Given the description of an element on the screen output the (x, y) to click on. 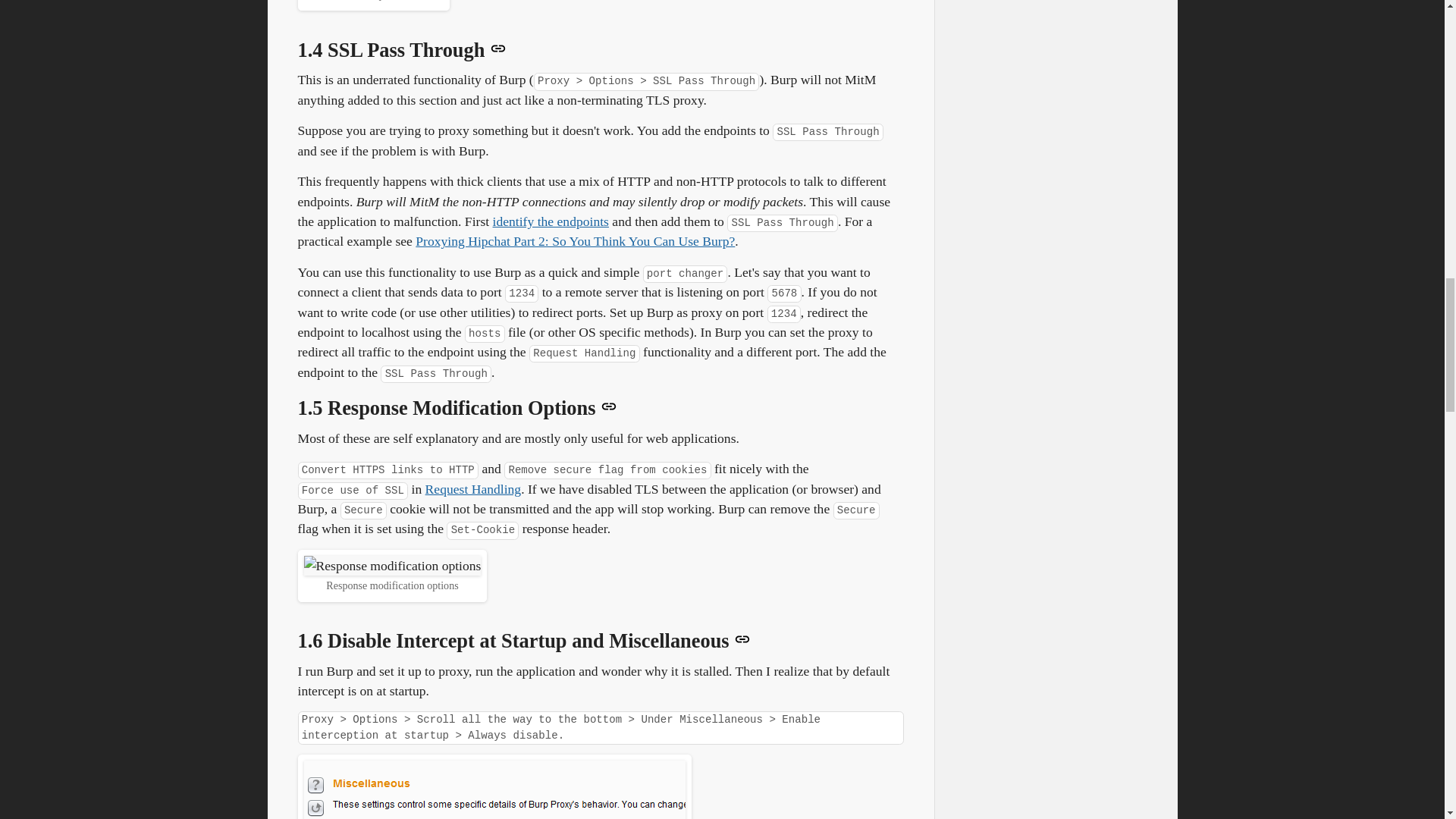
Interception startup settings (493, 789)
Request Handling (473, 488)
Proxying Hipchat Part 1: Where did the Traffic Go? (550, 221)
Proxying Hipchat Part 2: So You Think You Can Use Burp? (574, 240)
3. Burp's SSL Pass Through (574, 240)
identify the endpoints (550, 221)
Response modification options (391, 565)
